Given the description of an element on the screen output the (x, y) to click on. 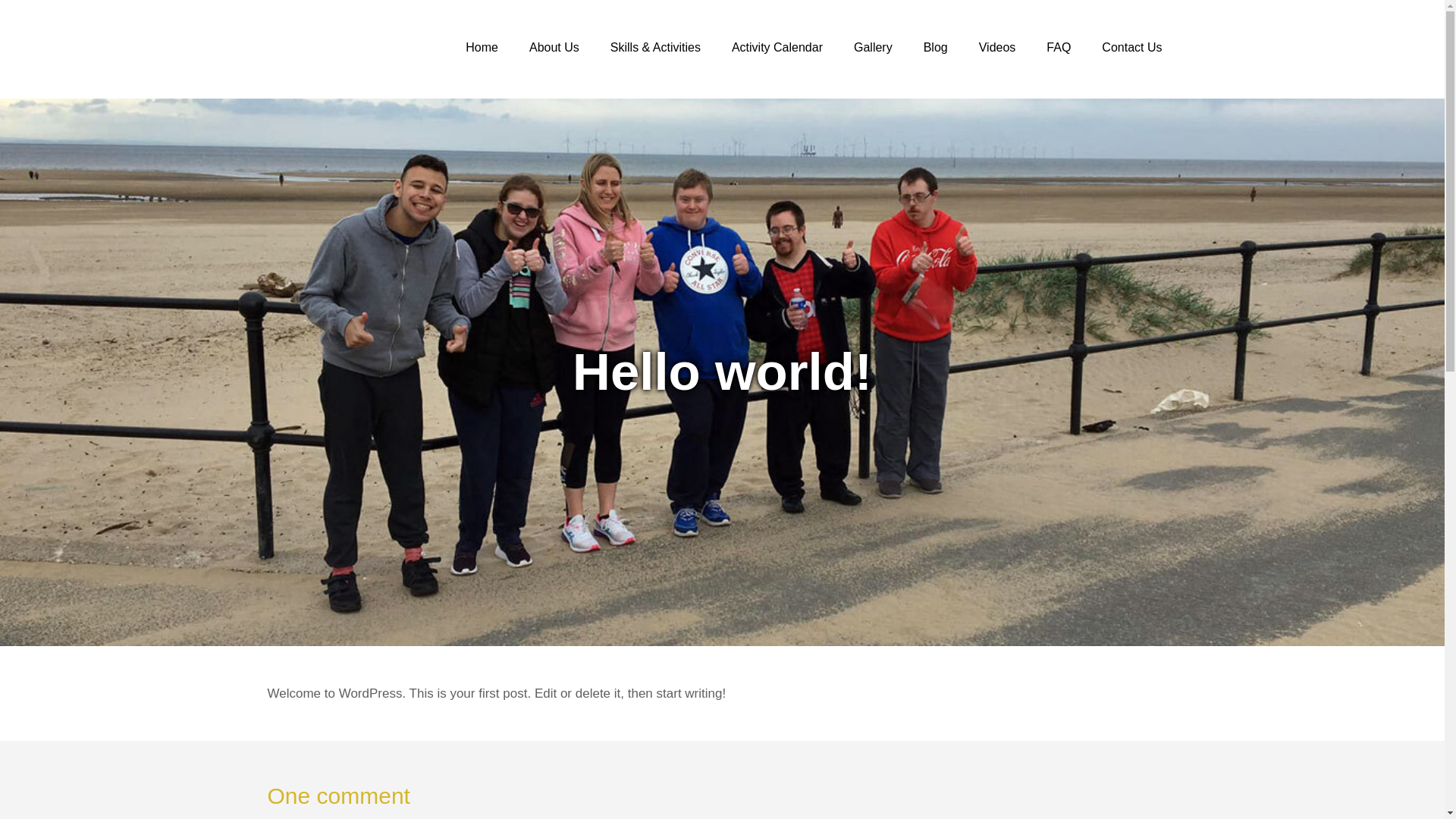
Gallery (872, 47)
Contact Us (1131, 47)
Videos (996, 47)
Activity Calendar (777, 47)
FAQ (1058, 47)
Home (481, 47)
Blog (935, 47)
About Us (553, 47)
